Given the description of an element on the screen output the (x, y) to click on. 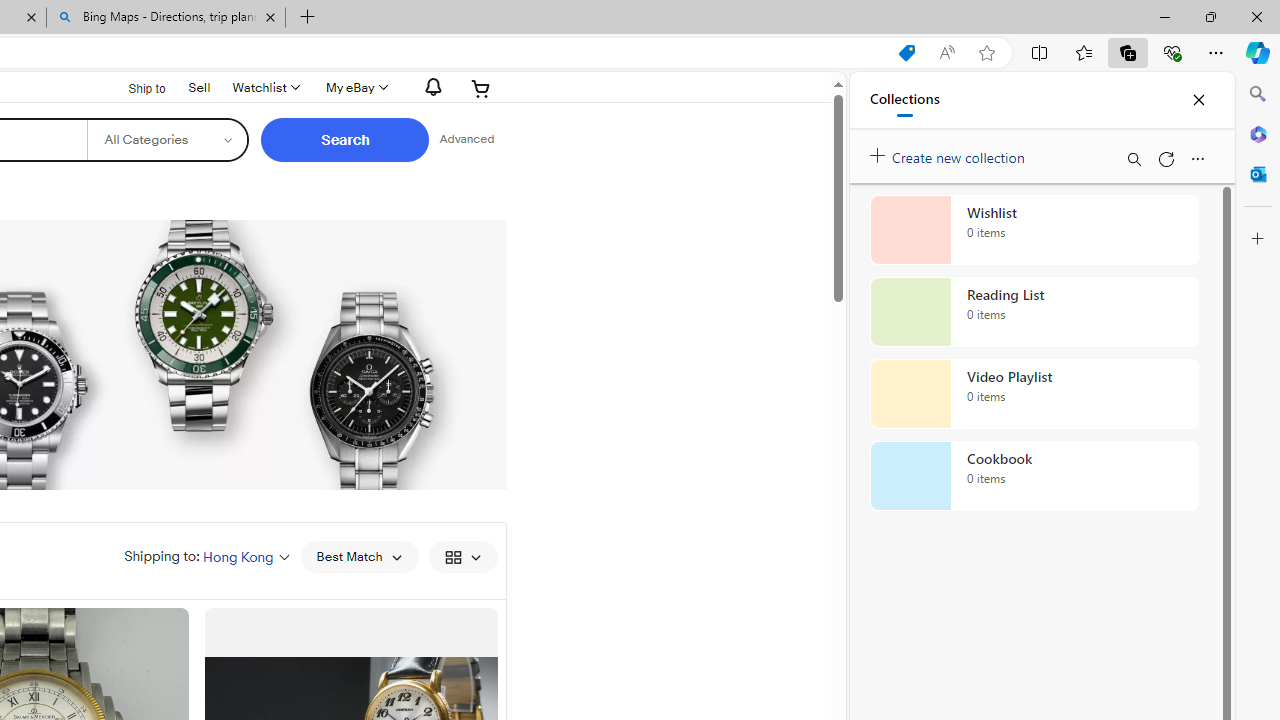
Reading List collection, 0 items (1034, 312)
My eBay (354, 88)
This site has coupons! Shopping in Microsoft Edge, 20 (906, 53)
Select a category for search (167, 139)
Watchlist (264, 88)
